Given the description of an element on the screen output the (x, y) to click on. 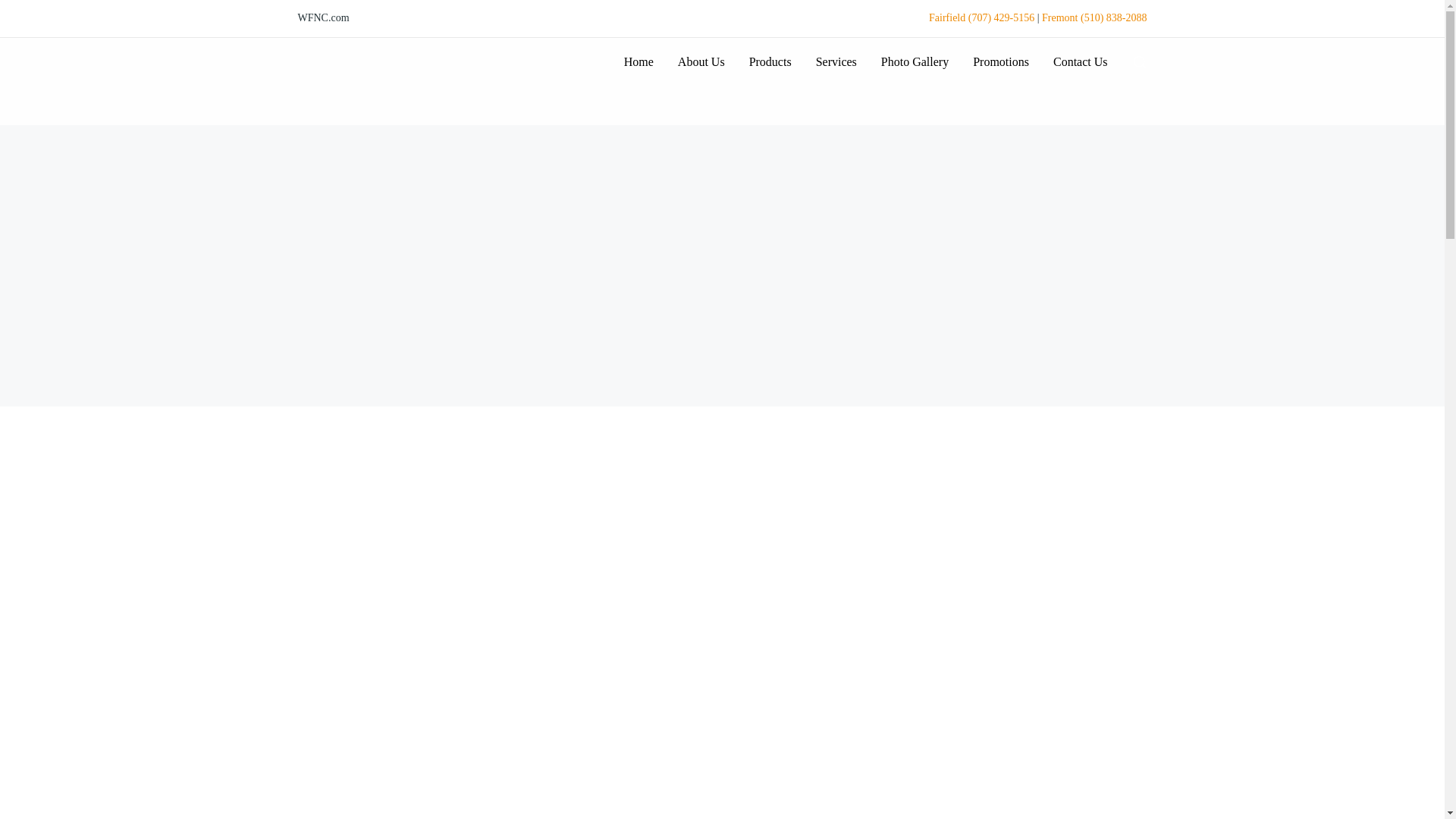
Home (638, 61)
WFNC.com (323, 18)
About Us (701, 61)
